Given the description of an element on the screen output the (x, y) to click on. 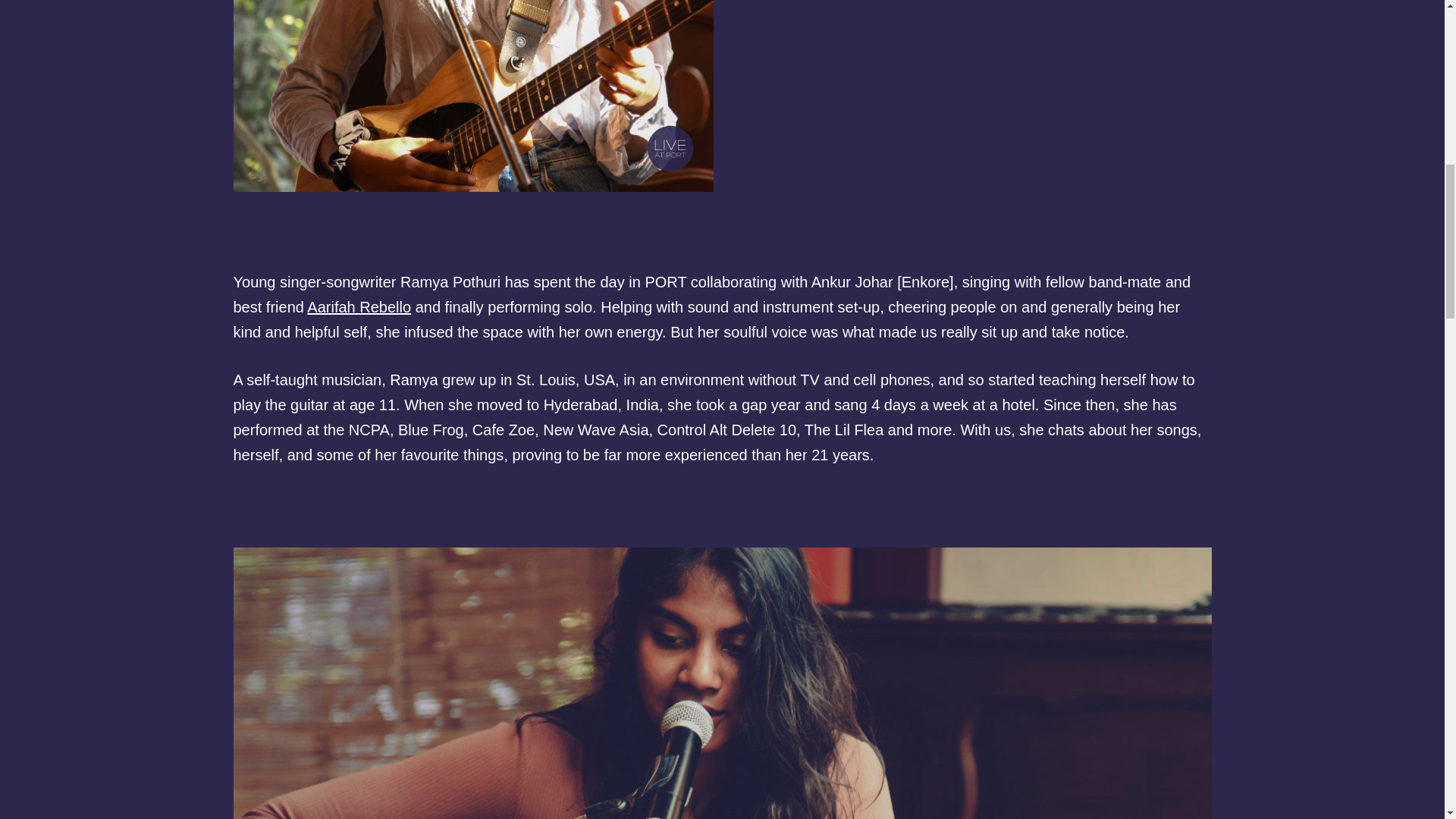
Ramya Pothuri: Dreamy Pop - INTERVIEW 1 - G5A (472, 95)
